Given the description of an element on the screen output the (x, y) to click on. 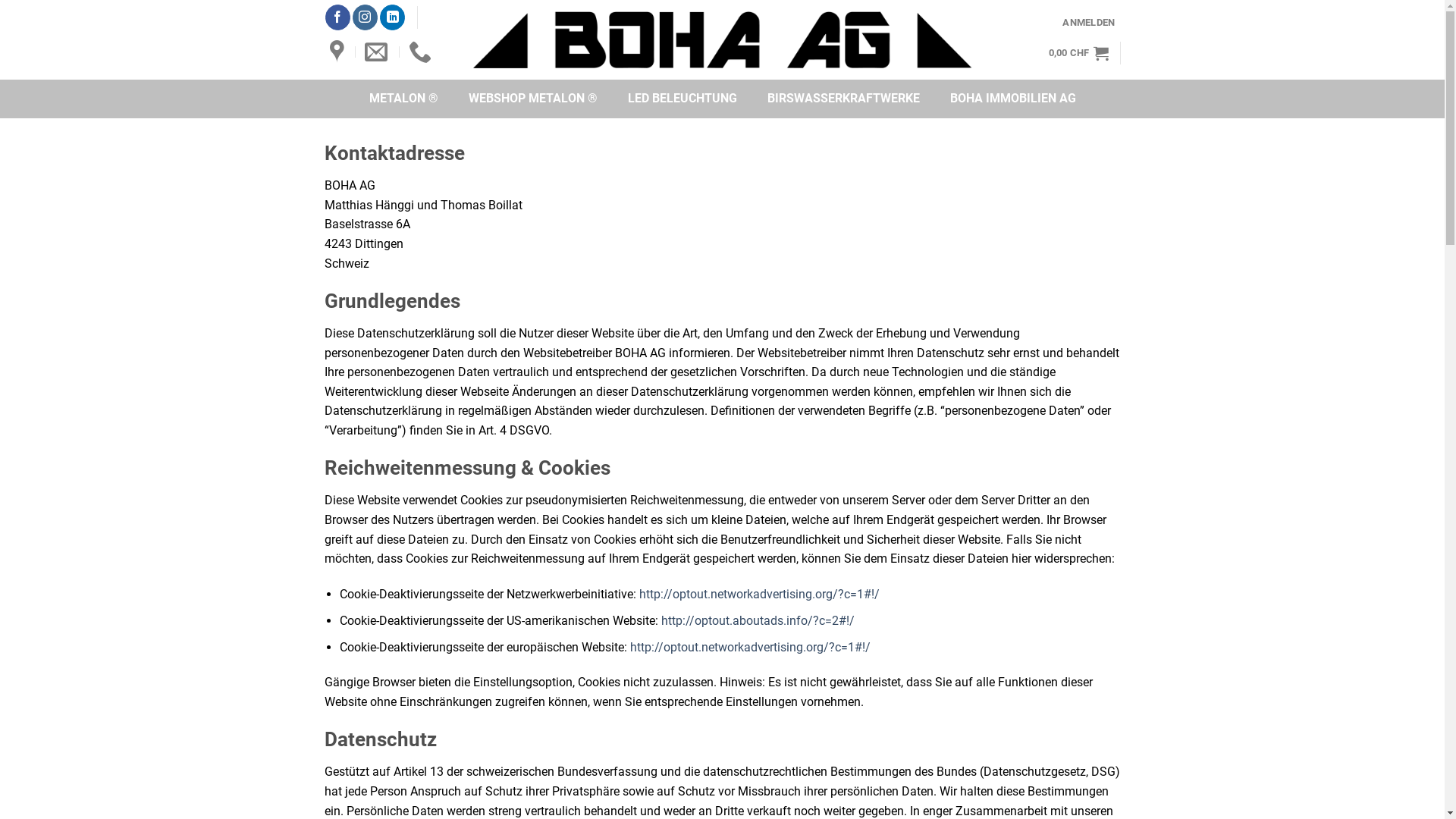
ANMELDEN Element type: text (1088, 21)
BIRSWASSERKRAFTWERKE Element type: text (843, 98)
http://optout.aboutads.info/?c=2#!/ Element type: text (757, 620)
http://optout.networkadvertising.org/?c=1#!/ Element type: text (750, 647)
BOHA IMMOBILIEN AG Element type: text (1012, 98)
LED BELEUCHTUNG Element type: text (682, 98)
http://optout.networkadvertising.org/?c=1#!/ Element type: text (759, 593)
0,00 CHF Element type: text (1078, 52)
